Given the description of an element on the screen output the (x, y) to click on. 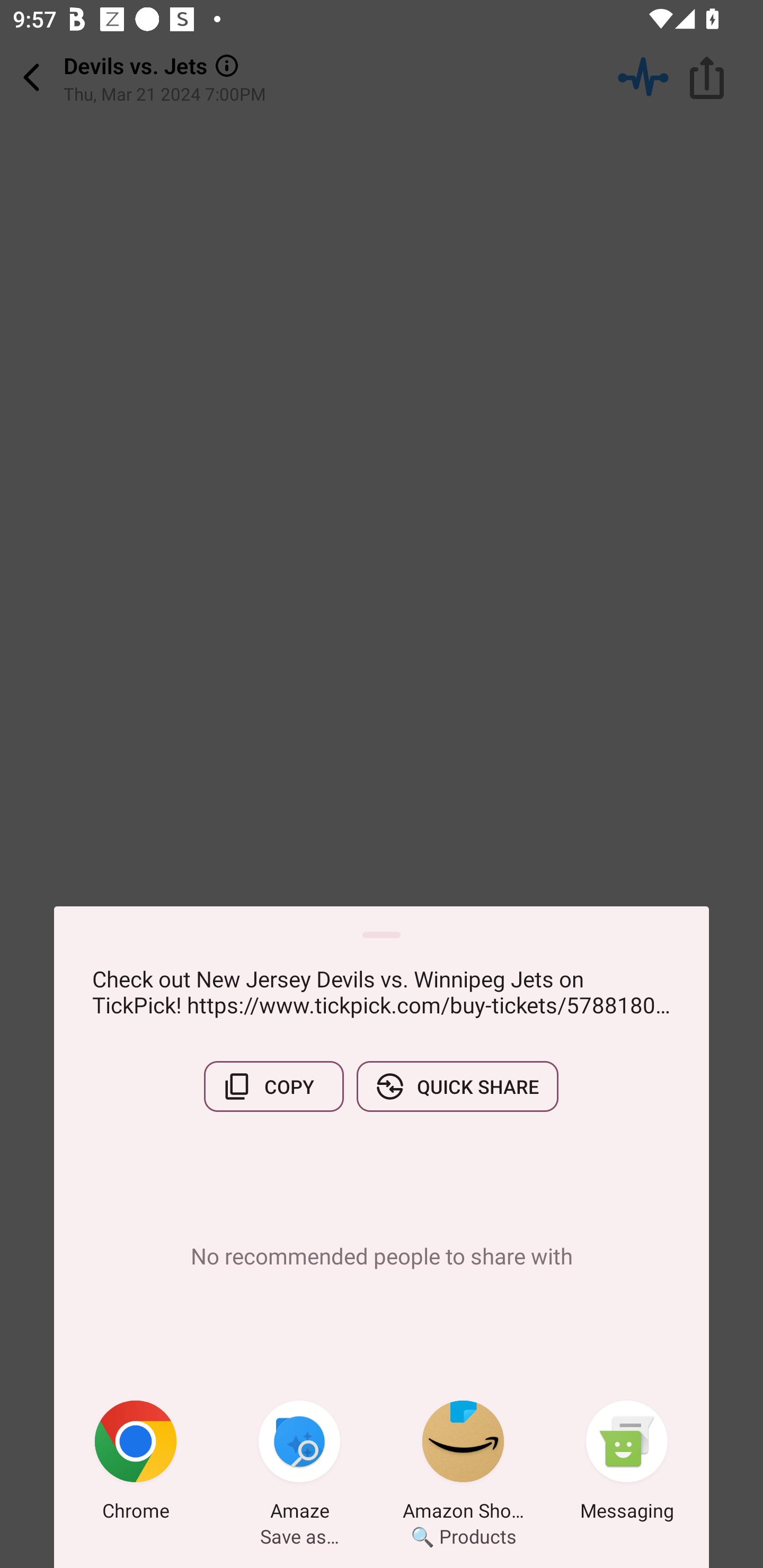
COPY (273, 1086)
QUICK SHARE (457, 1086)
Chrome (135, 1463)
Amaze Save as… (299, 1463)
Amazon Shopping 🔍 Products (463, 1463)
Messaging (626, 1463)
